Given the description of an element on the screen output the (x, y) to click on. 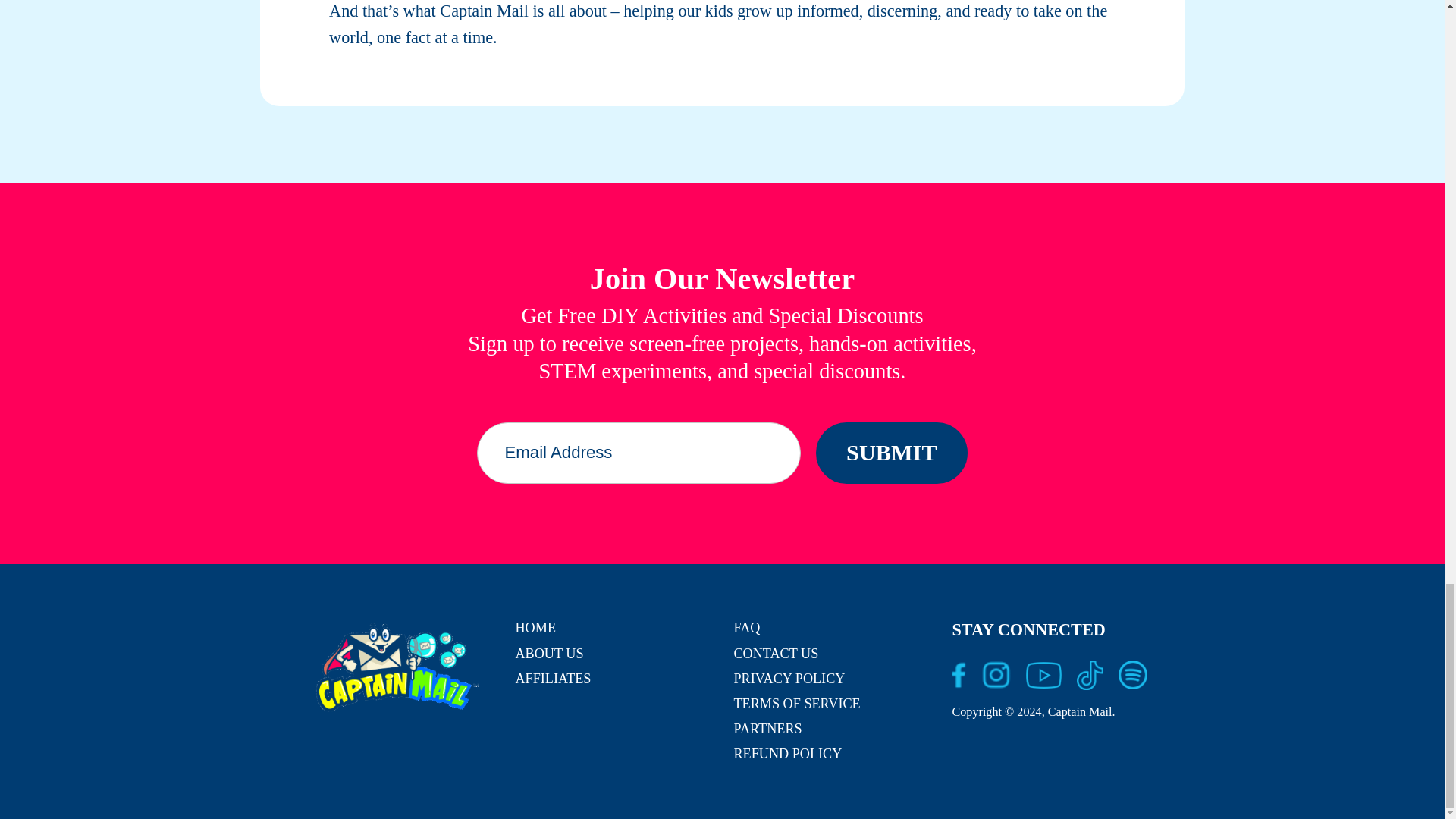
PARTNERS (767, 728)
ABOUT US (549, 653)
FAQ (746, 627)
PRIVACY POLICY (788, 678)
CONTACT US (775, 653)
TERMS OF SERVICE (796, 703)
AFFILIATES (553, 678)
SUBMIT (891, 453)
REFUND POLICY (787, 753)
HOME (535, 627)
